Given the description of an element on the screen output the (x, y) to click on. 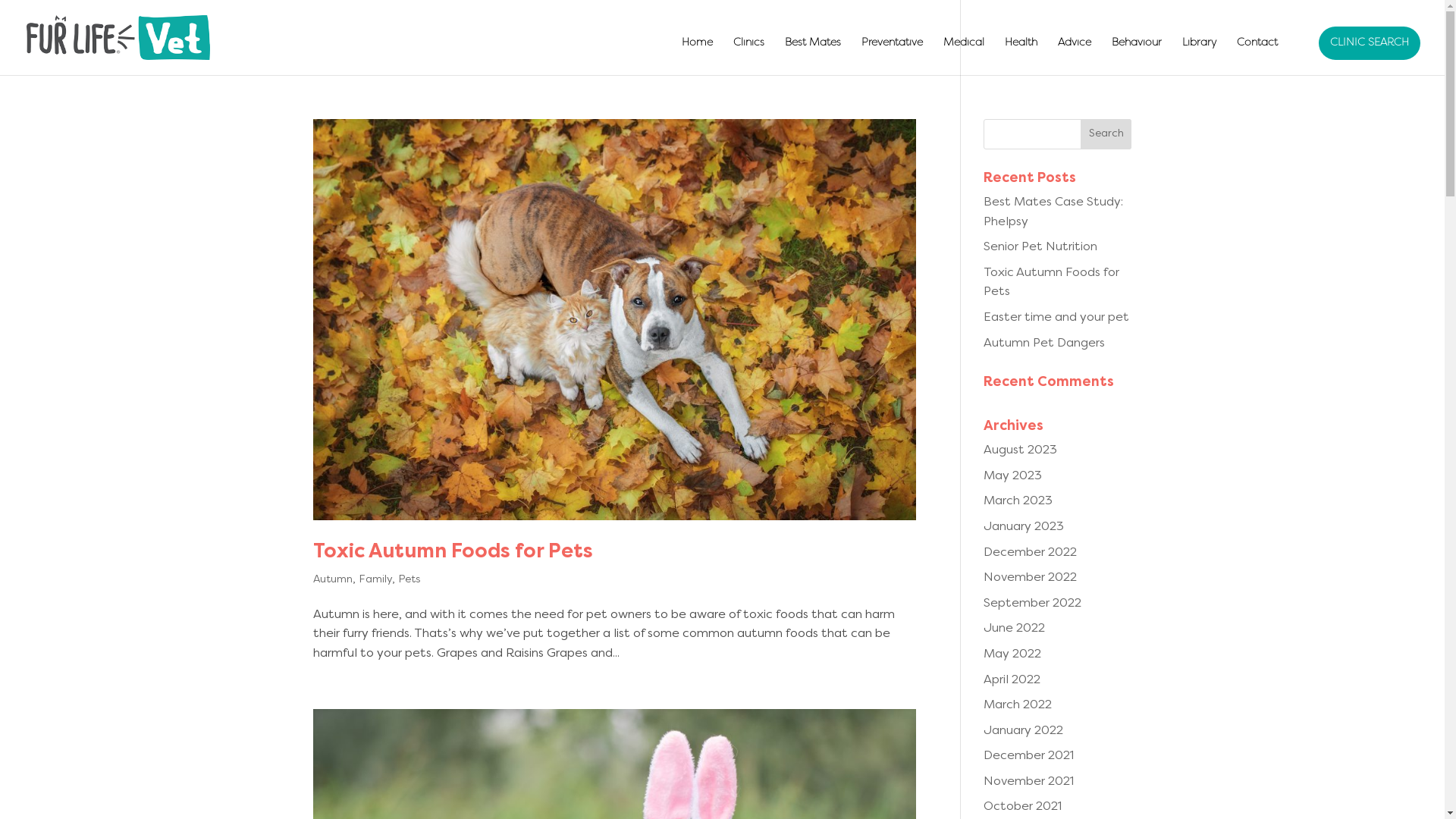
January 2023 Element type: text (1023, 526)
May 2022 Element type: text (1012, 654)
March 2022 Element type: text (1017, 705)
Pets Element type: text (408, 579)
May 2023 Element type: text (1012, 476)
Contact Element type: text (1256, 56)
Senior Pet Nutrition Element type: text (1040, 247)
Autumn Element type: text (331, 579)
Easter time and your pet Element type: text (1056, 317)
Advice Element type: text (1074, 56)
Preventative Element type: text (891, 56)
Clinics Element type: text (748, 56)
Search Element type: text (1106, 134)
Home Element type: text (696, 56)
September 2022 Element type: text (1032, 603)
Toxic Autumn Foods for Pets Element type: text (452, 551)
Family Element type: text (374, 579)
December 2021 Element type: text (1028, 755)
Health Element type: text (1020, 56)
CLINIC SEARCH Element type: text (1369, 42)
November 2021 Element type: text (1028, 781)
Best Mates Element type: text (812, 56)
June 2022 Element type: text (1013, 628)
April 2022 Element type: text (1011, 679)
November 2022 Element type: text (1029, 577)
January 2022 Element type: text (1023, 730)
Library Element type: text (1199, 56)
August 2023 Element type: text (1020, 450)
December 2022 Element type: text (1029, 552)
Best Mates Case Study: Phelpsy Element type: text (1053, 212)
Medical Element type: text (963, 56)
Toxic Autumn Foods for Pets Element type: text (1051, 282)
Autumn Pet Dangers Element type: text (1043, 343)
March 2023 Element type: text (1017, 501)
October 2021 Element type: text (1022, 806)
Behaviour Element type: text (1136, 56)
